Given the description of an element on the screen output the (x, y) to click on. 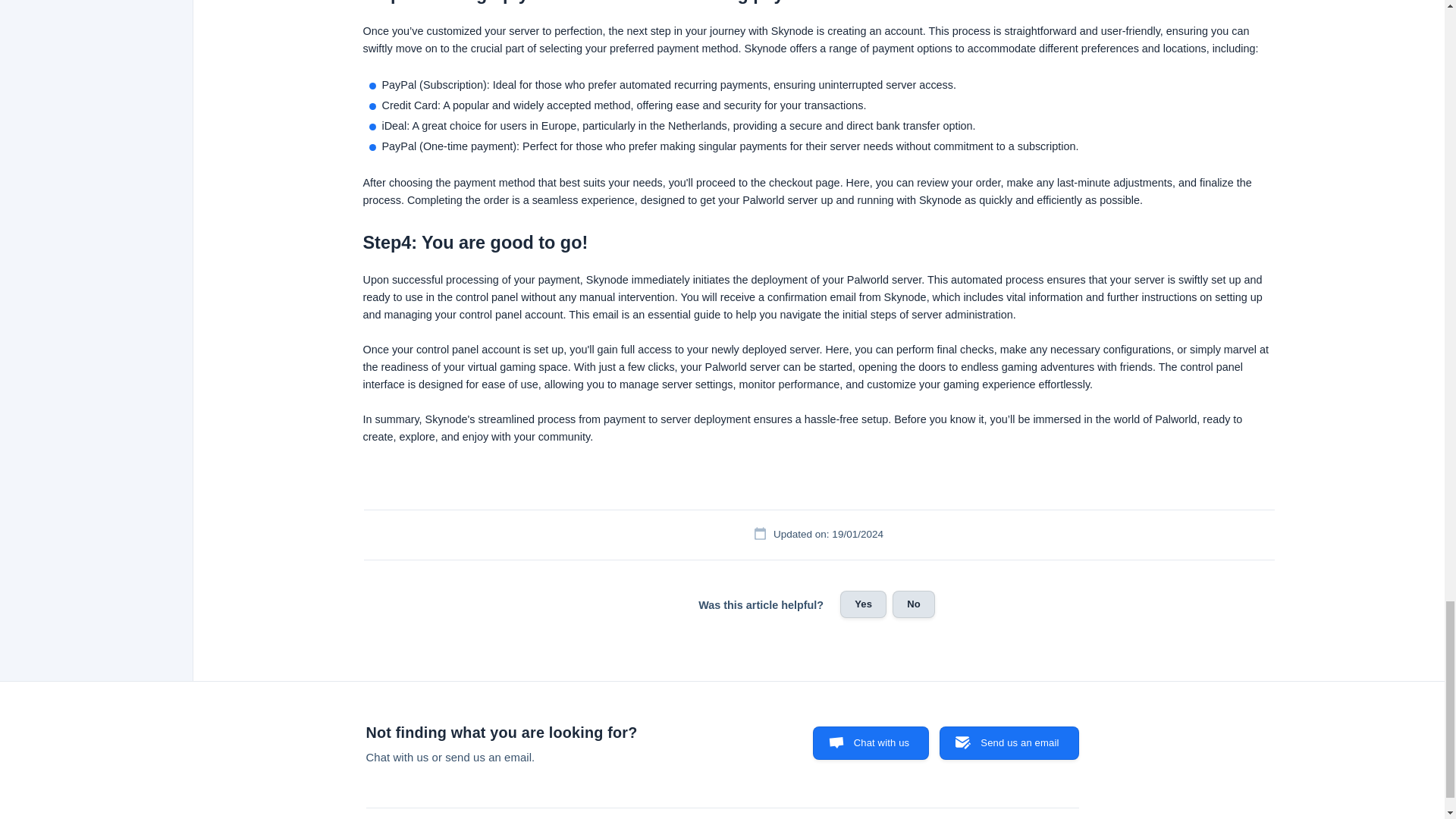
No (913, 604)
Send us an email (1008, 743)
Chat with us (871, 743)
Yes (863, 604)
